Given the description of an element on the screen output the (x, y) to click on. 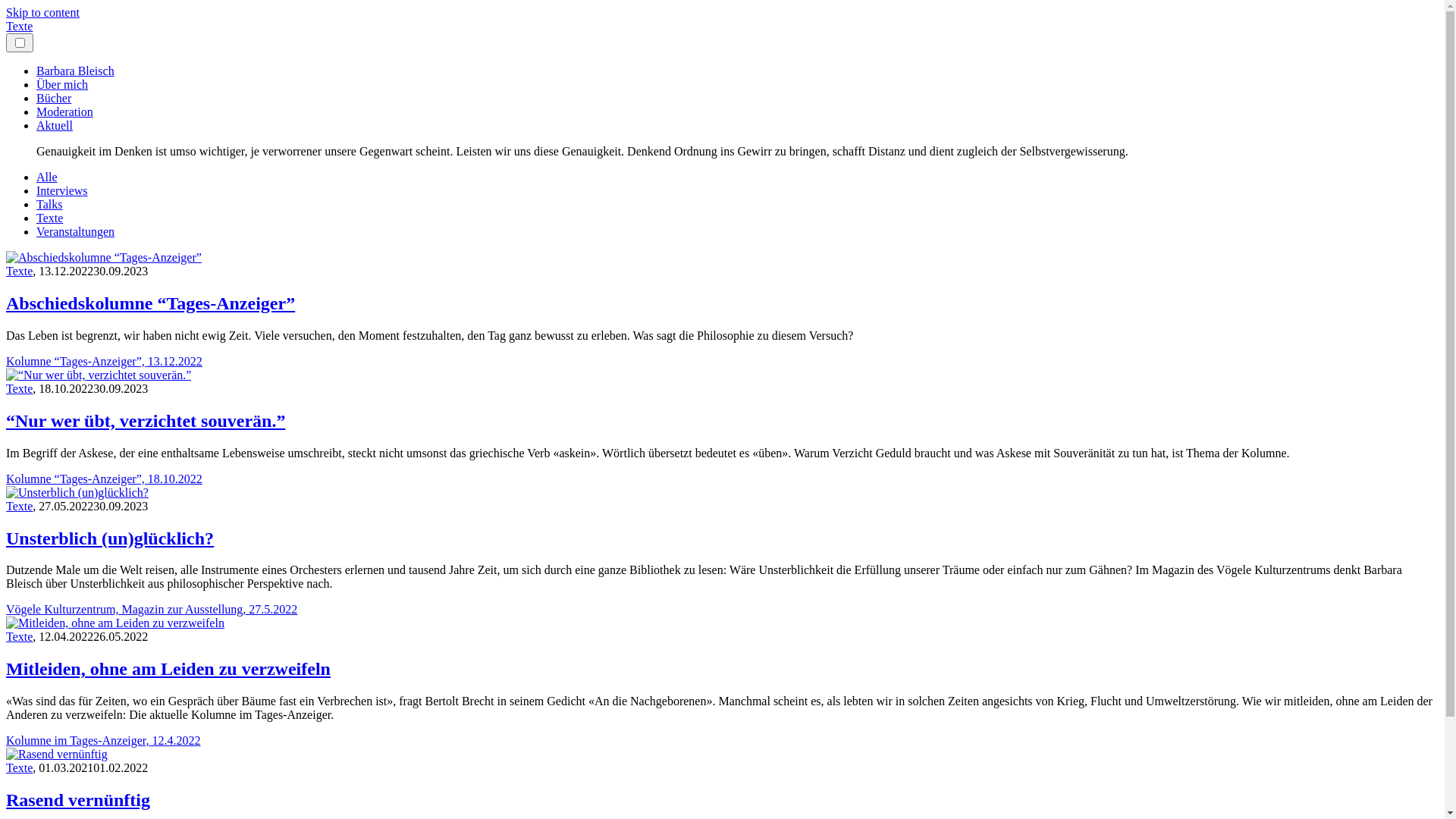
Texte Element type: text (19, 270)
Texte Element type: text (19, 388)
Barbara Bleisch Element type: text (75, 70)
Kolumne im Tages-Anzeiger, 12.4.2022 Element type: text (103, 740)
Interviews Element type: text (61, 190)
Alle Element type: text (46, 176)
Veranstaltungen Element type: text (75, 231)
Texte Element type: text (19, 767)
Skip to content Element type: text (42, 12)
Texte Element type: text (19, 25)
Aktuell Element type: text (54, 125)
Mitleiden, ohne am Leiden zu verzweifeln Element type: text (168, 668)
Texte Element type: text (19, 636)
Texte Element type: text (19, 505)
Talks Element type: text (49, 203)
Texte Element type: text (49, 217)
Moderation Element type: text (64, 111)
